Given the description of an element on the screen output the (x, y) to click on. 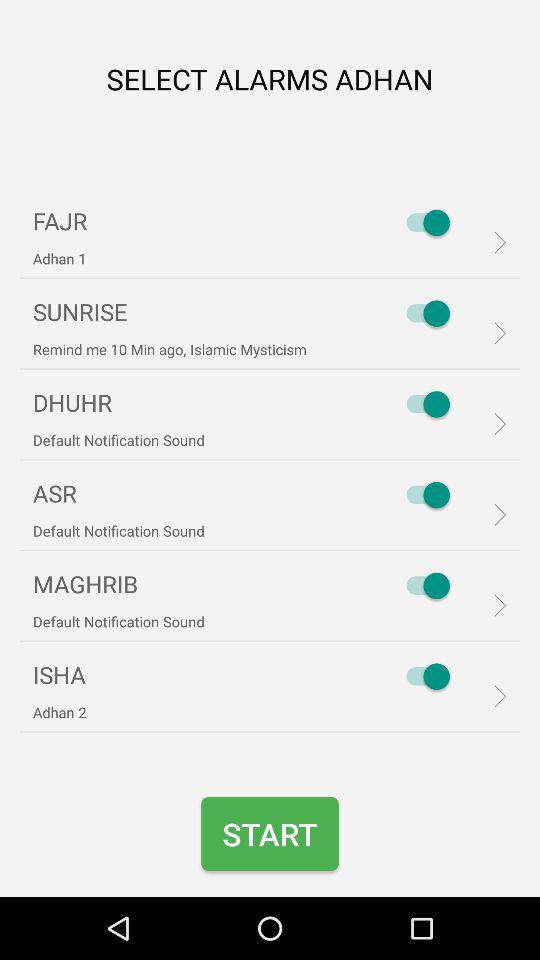
maghrib option turned on (423, 585)
